Given the description of an element on the screen output the (x, y) to click on. 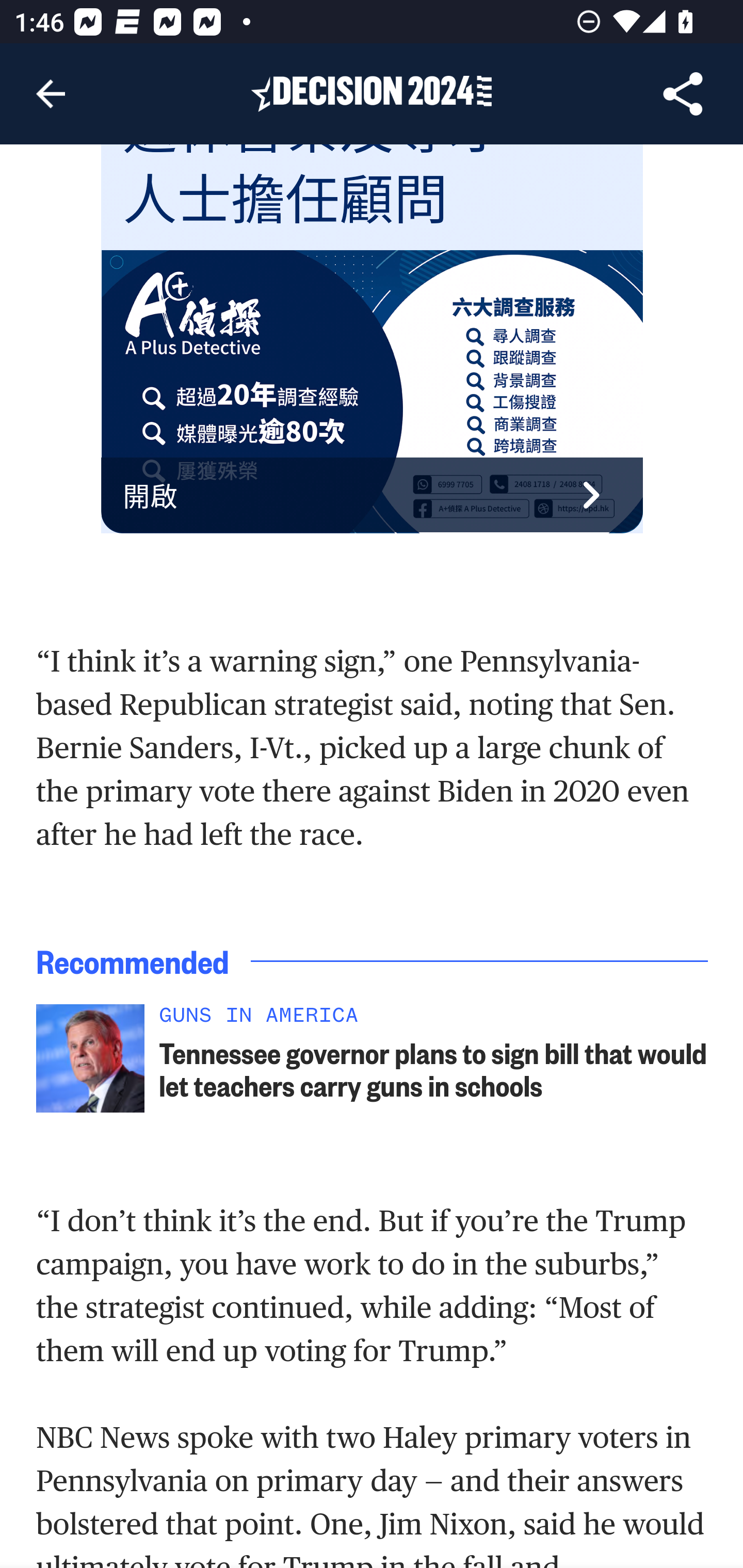
Navigate up (50, 93)
Share Article, button (683, 94)
Header, Decision 2024 (371, 93)
開啟 (372, 495)
GUNS IN AMERICA (434, 1021)
